Given the description of an element on the screen output the (x, y) to click on. 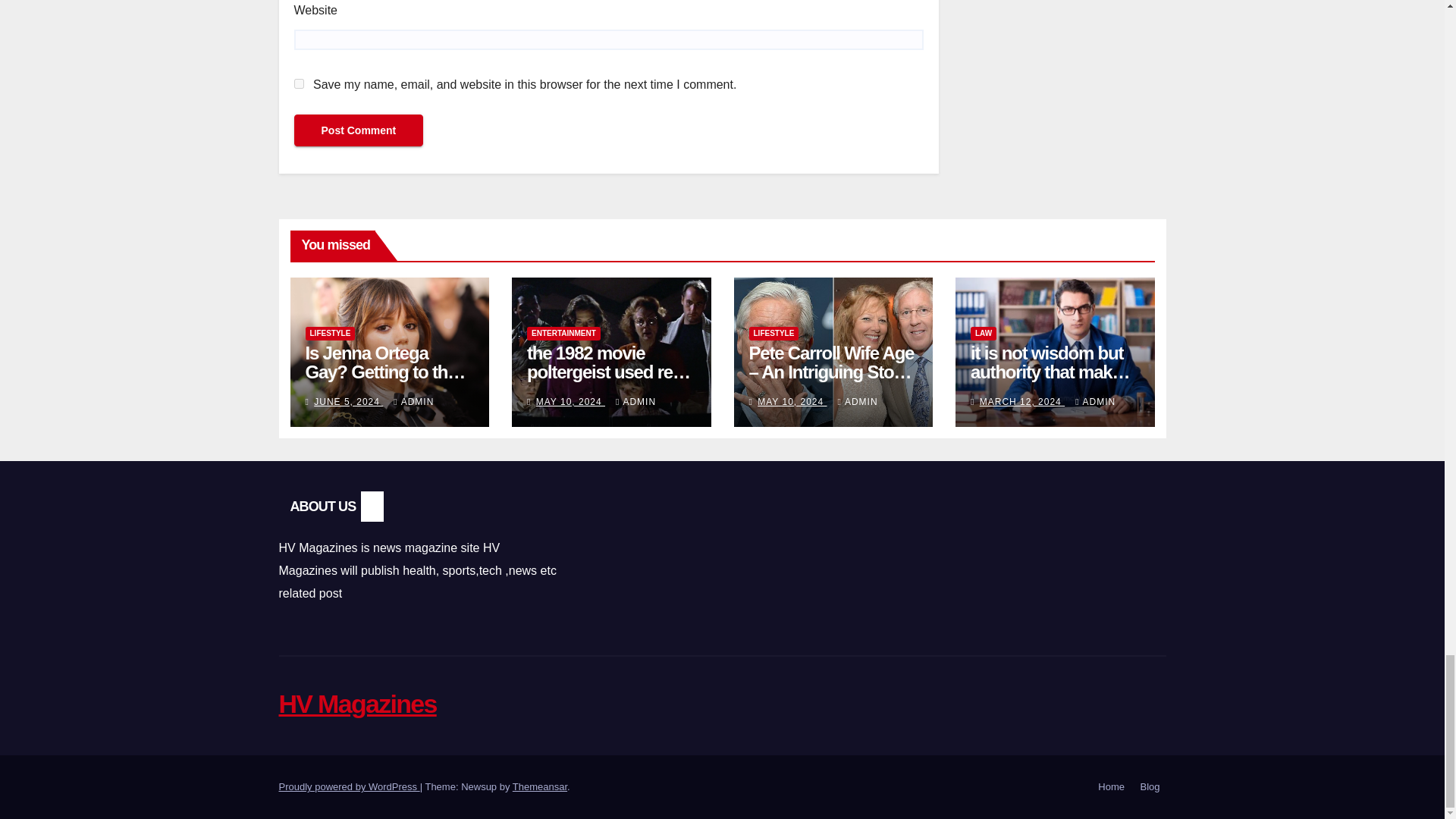
Post Comment (358, 130)
yes (299, 83)
